Given the description of an element on the screen output the (x, y) to click on. 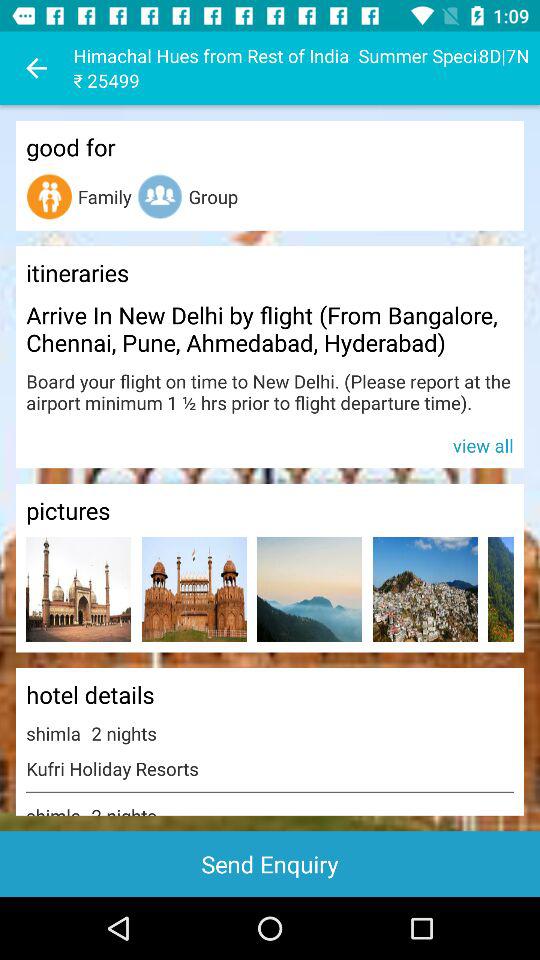
click icon to the left of the himachal hues from (36, 68)
